Given the description of an element on the screen output the (x, y) to click on. 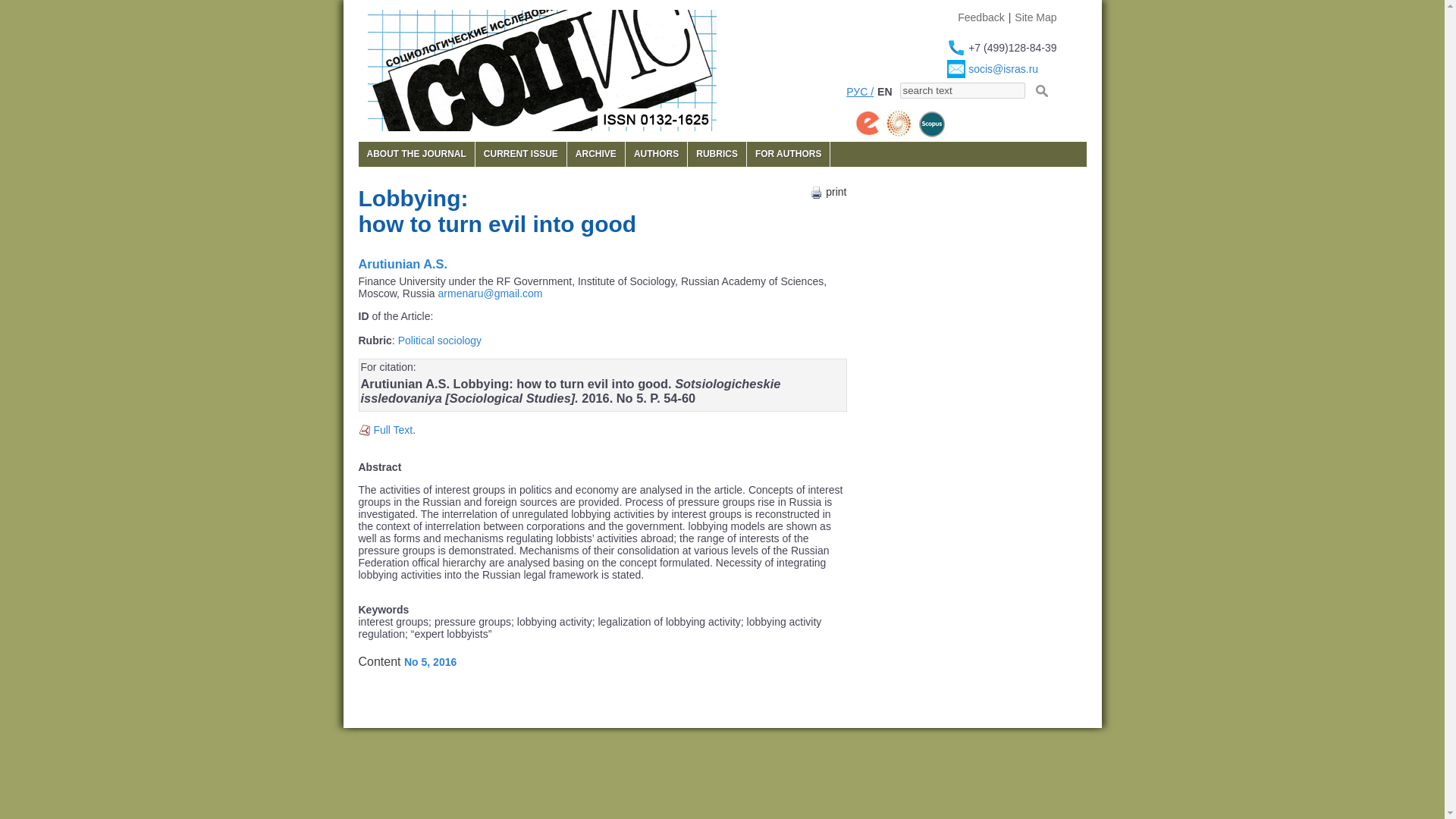
Site Map (1035, 17)
AUTHORS (656, 154)
Feedback (981, 17)
download free (392, 429)
CURRENT ISSUE (521, 154)
FOR AUTHORS (787, 154)
ARCHIVE (595, 154)
ABOUT THE JOURNAL (416, 154)
search text (962, 90)
RUBRICS (716, 154)
